Given the description of an element on the screen output the (x, y) to click on. 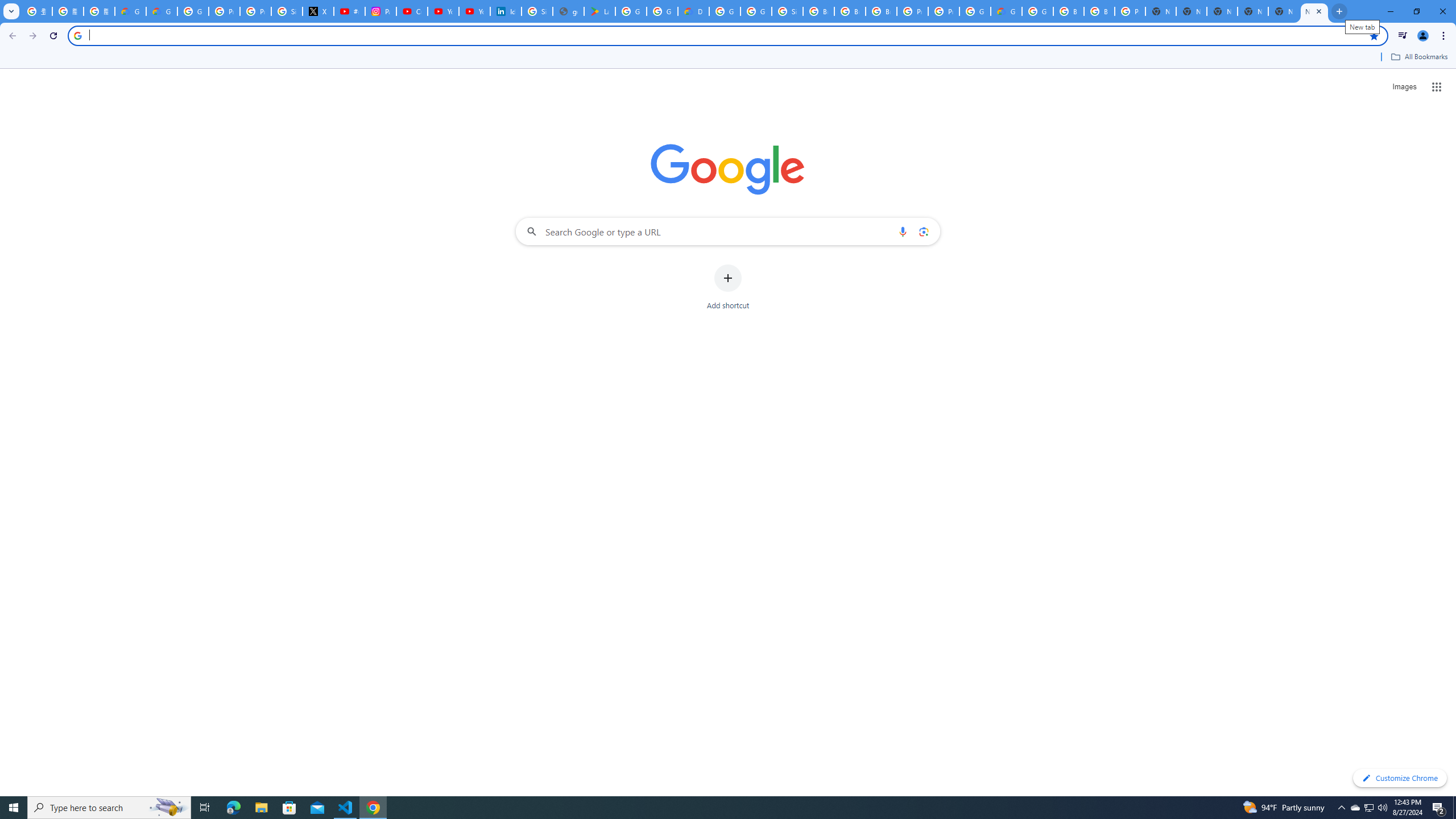
Google Workspace - Specific Terms (662, 11)
Bookmarks (728, 58)
#nbabasketballhighlights - YouTube (349, 11)
Google Cloud Platform (724, 11)
Customize Chrome (1399, 778)
Control your music, videos, and more (1402, 35)
